Given the description of an element on the screen output the (x, y) to click on. 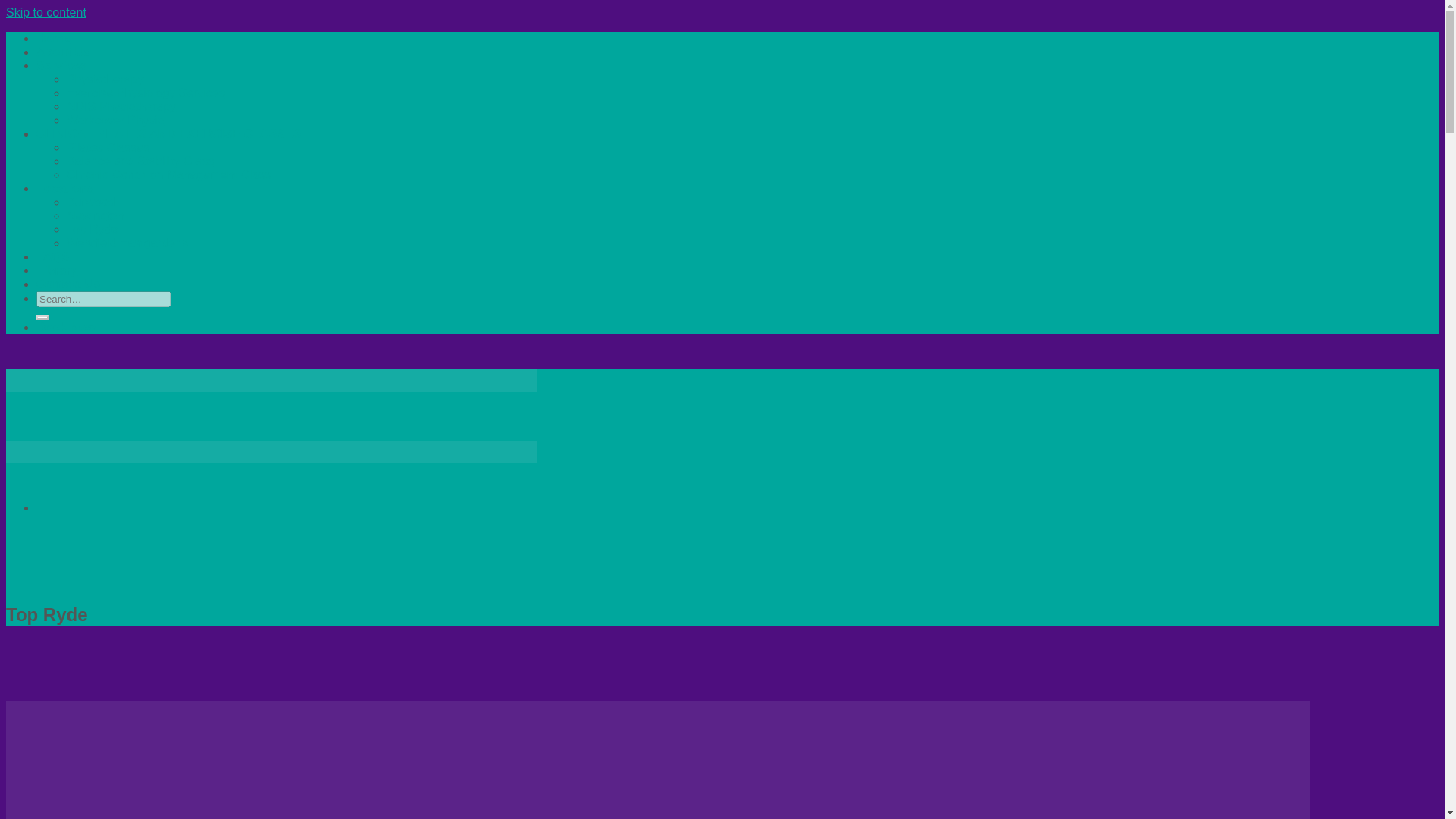
Contact Us (68, 283)
Book Online (66, 327)
Services (60, 65)
Workcover Physio (115, 119)
Top Ryde (91, 228)
CLINICAL PILATES AND EXERCISE CLASSES (168, 133)
NDIS Physiotherapy (121, 106)
Newington (94, 215)
Westfield Eastgardens (126, 242)
Locations (65, 187)
Library (56, 269)
Chronic Condition Management Class (168, 174)
FAQS (52, 256)
Physiotherapy (104, 78)
Skip to content (45, 11)
